Given the description of an element on the screen output the (x, y) to click on. 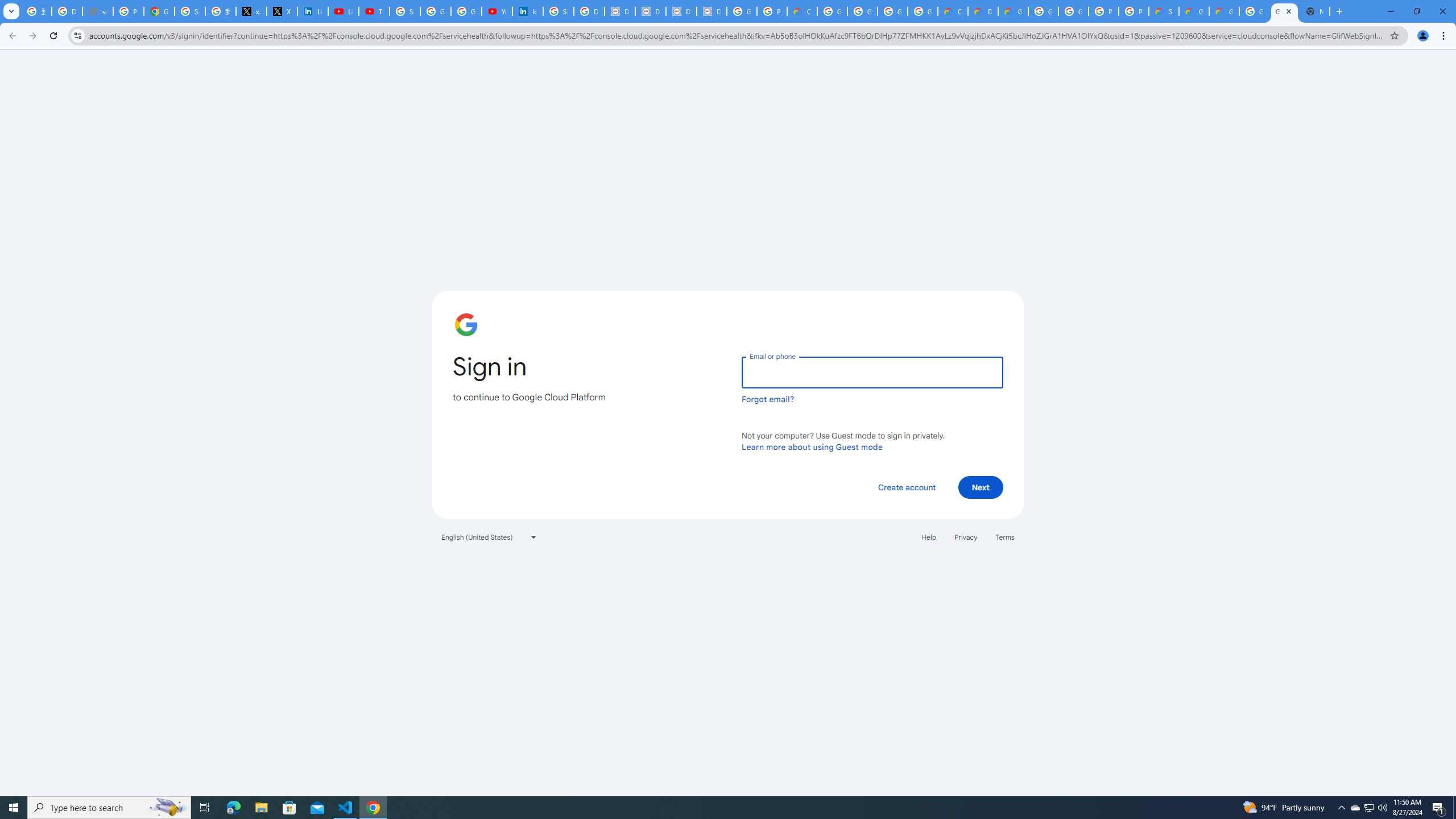
Google Cloud Platform (1072, 11)
Forgot email? (767, 398)
Google Workspace - Specific Terms (922, 11)
Data Privacy Framework (650, 11)
Google Cloud Service Health (1193, 11)
Sign in - Google Accounts (404, 11)
LinkedIn - YouTube (343, 11)
Data Privacy Framework (681, 11)
